Given the description of an element on the screen output the (x, y) to click on. 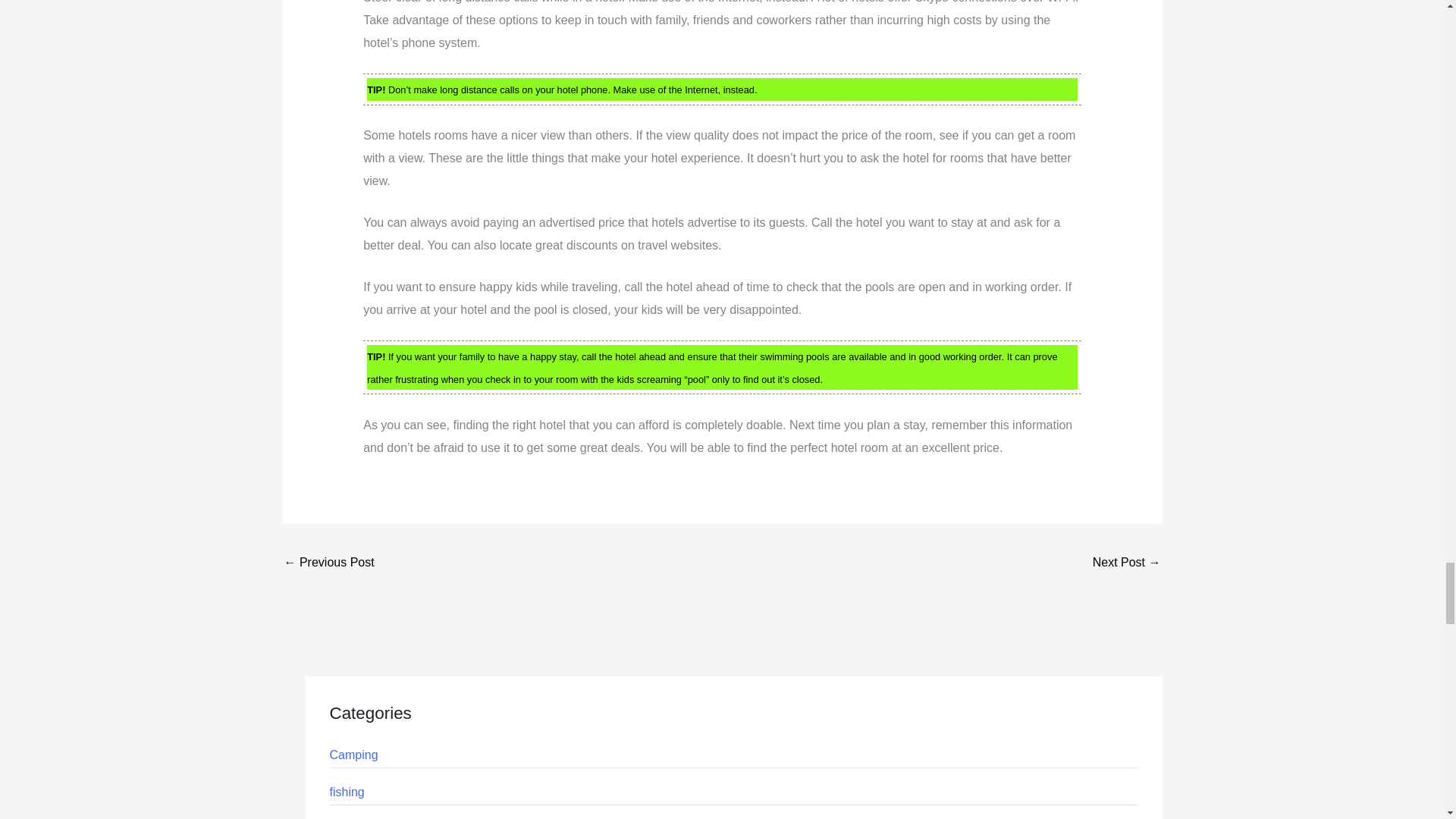
fishing (346, 791)
Everything You Need To Know About Camping (1126, 563)
Camping (353, 754)
